Given the description of an element on the screen output the (x, y) to click on. 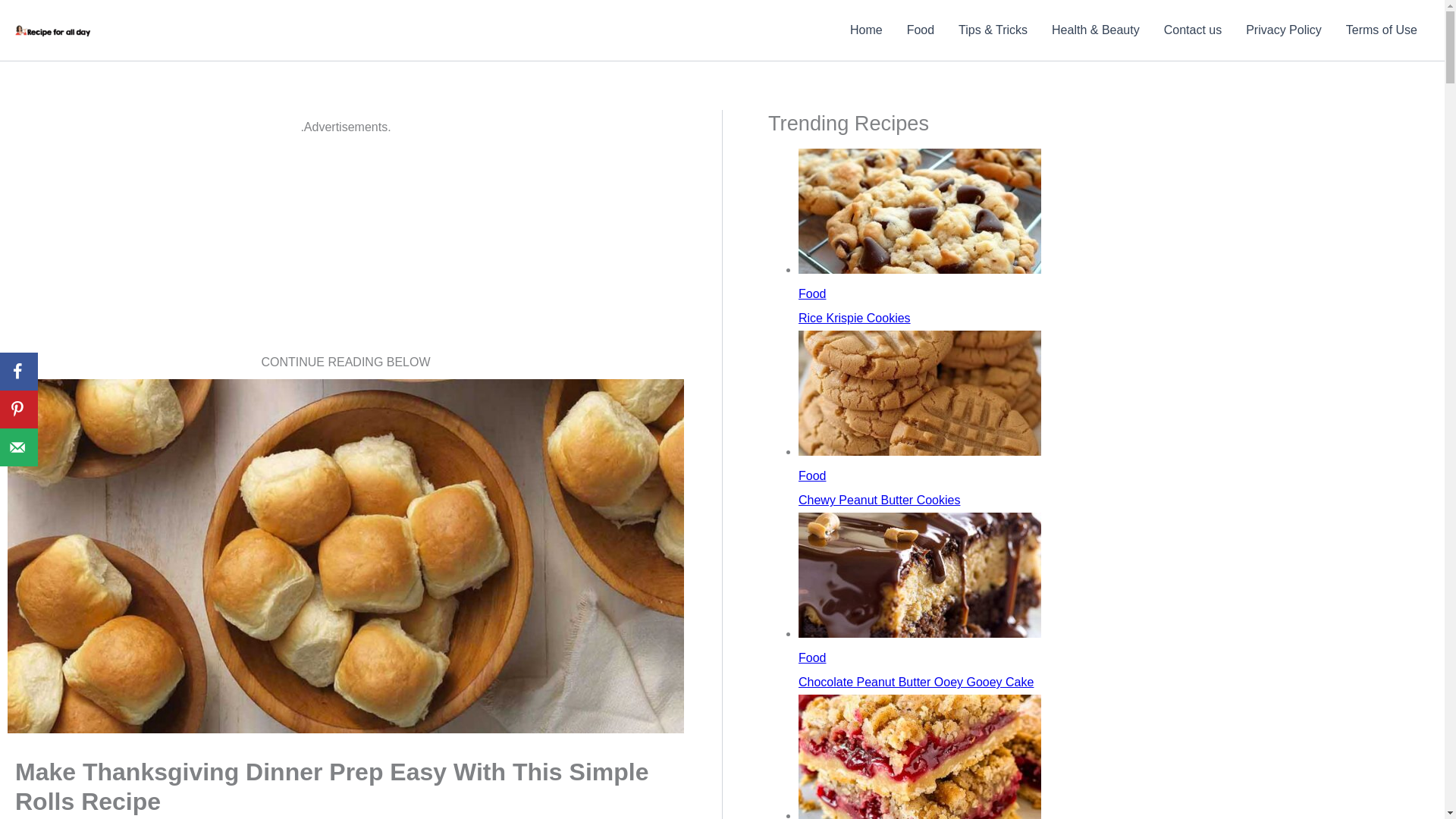
Terms of Use (1381, 30)
Save to Pinterest (18, 409)
Contact us (1192, 30)
Privacy Policy (1283, 30)
Home (866, 30)
Advertisement (344, 244)
Share on Facebook (18, 371)
